Given the description of an element on the screen output the (x, y) to click on. 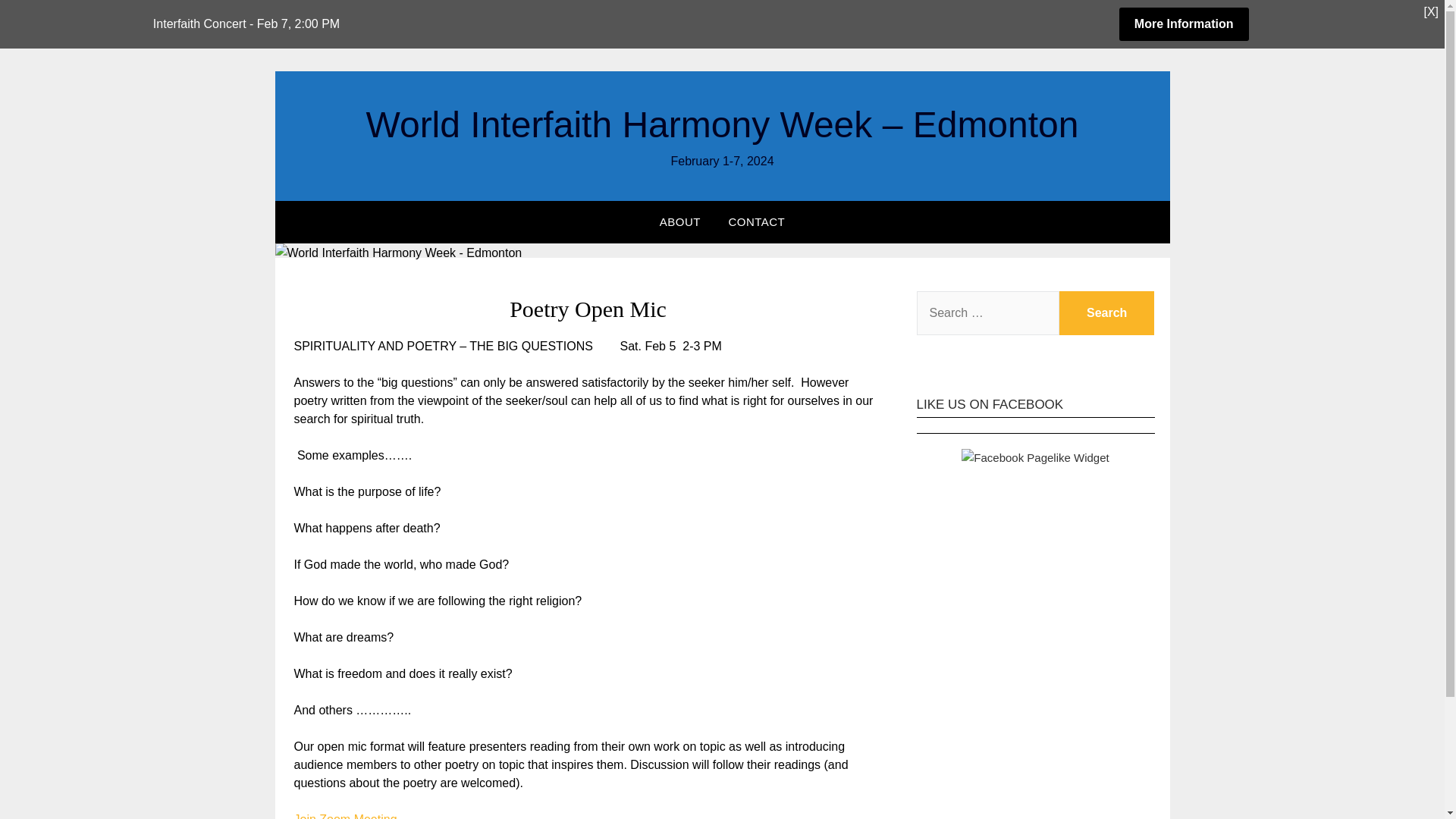
Join Zoom Meeting (345, 816)
Search (1106, 312)
ABOUT (680, 221)
More Information (1184, 23)
Search (1106, 312)
CONTACT (756, 221)
Search (1106, 312)
